Given the description of an element on the screen output the (x, y) to click on. 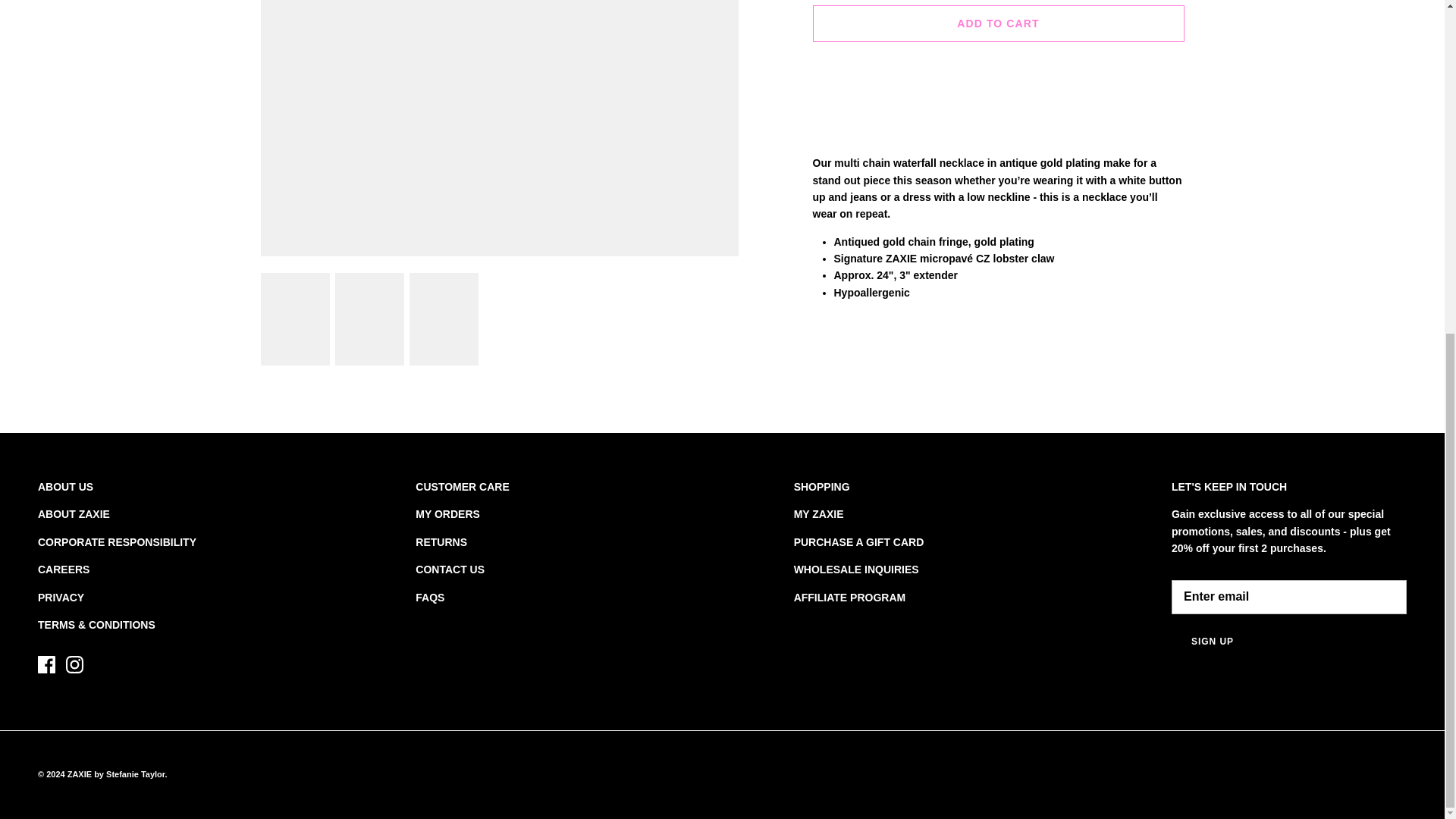
Contact Us (449, 569)
Facebook (46, 664)
FAQs (429, 597)
Careers (62, 569)
Instagram (73, 664)
Privacy (60, 597)
Corporate Responsibility (116, 541)
Affiliate Program (849, 597)
Wholesale Inquiries (855, 569)
